Given the description of an element on the screen output the (x, y) to click on. 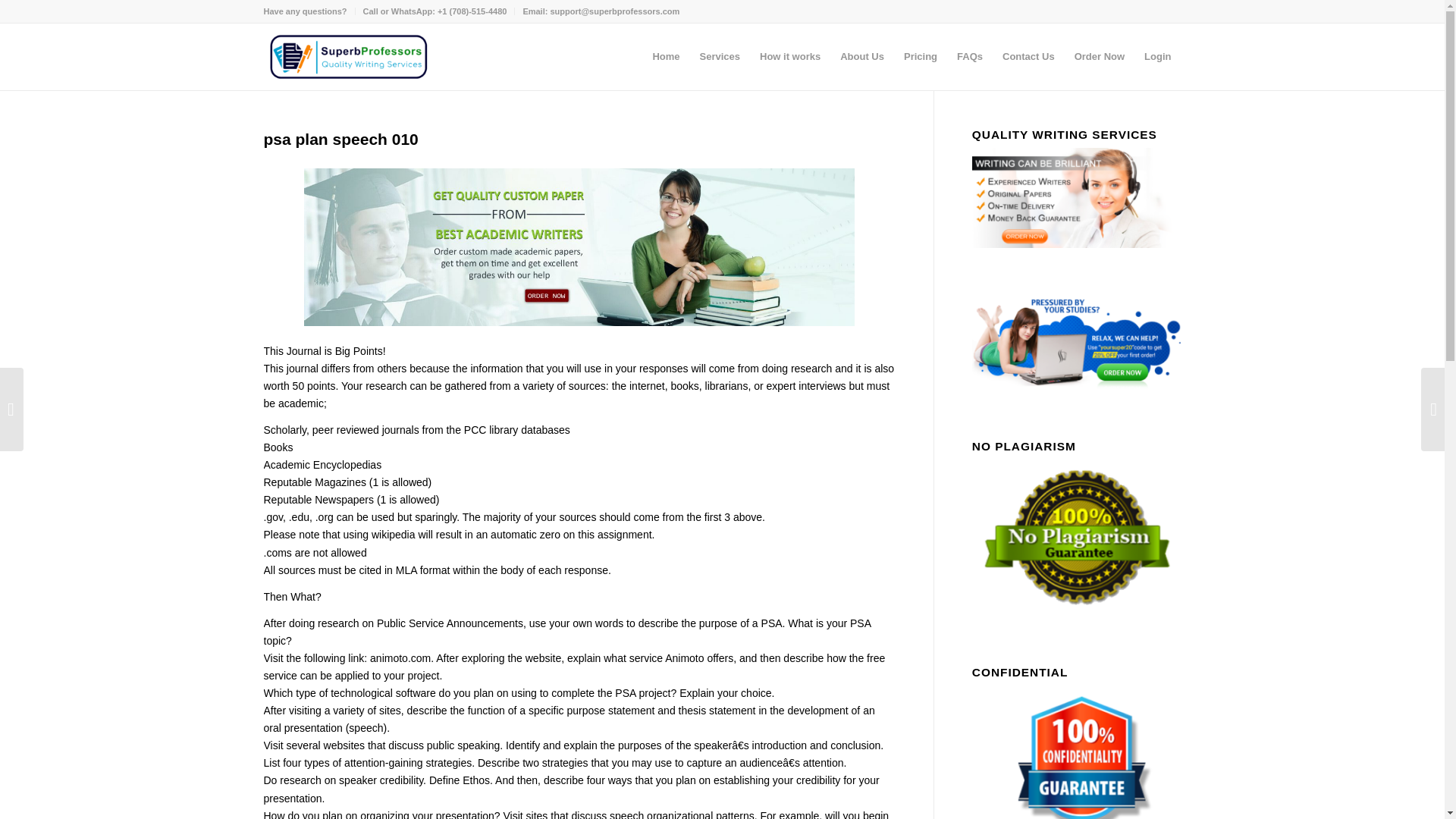
Order Now (1099, 56)
How it works (789, 56)
Permanent Link: psa plan speech 010 (341, 139)
Services (720, 56)
About Us (861, 56)
Have any questions? (305, 11)
Contact Us (1028, 56)
psa plan speech 010 (341, 139)
